Given the description of an element on the screen output the (x, y) to click on. 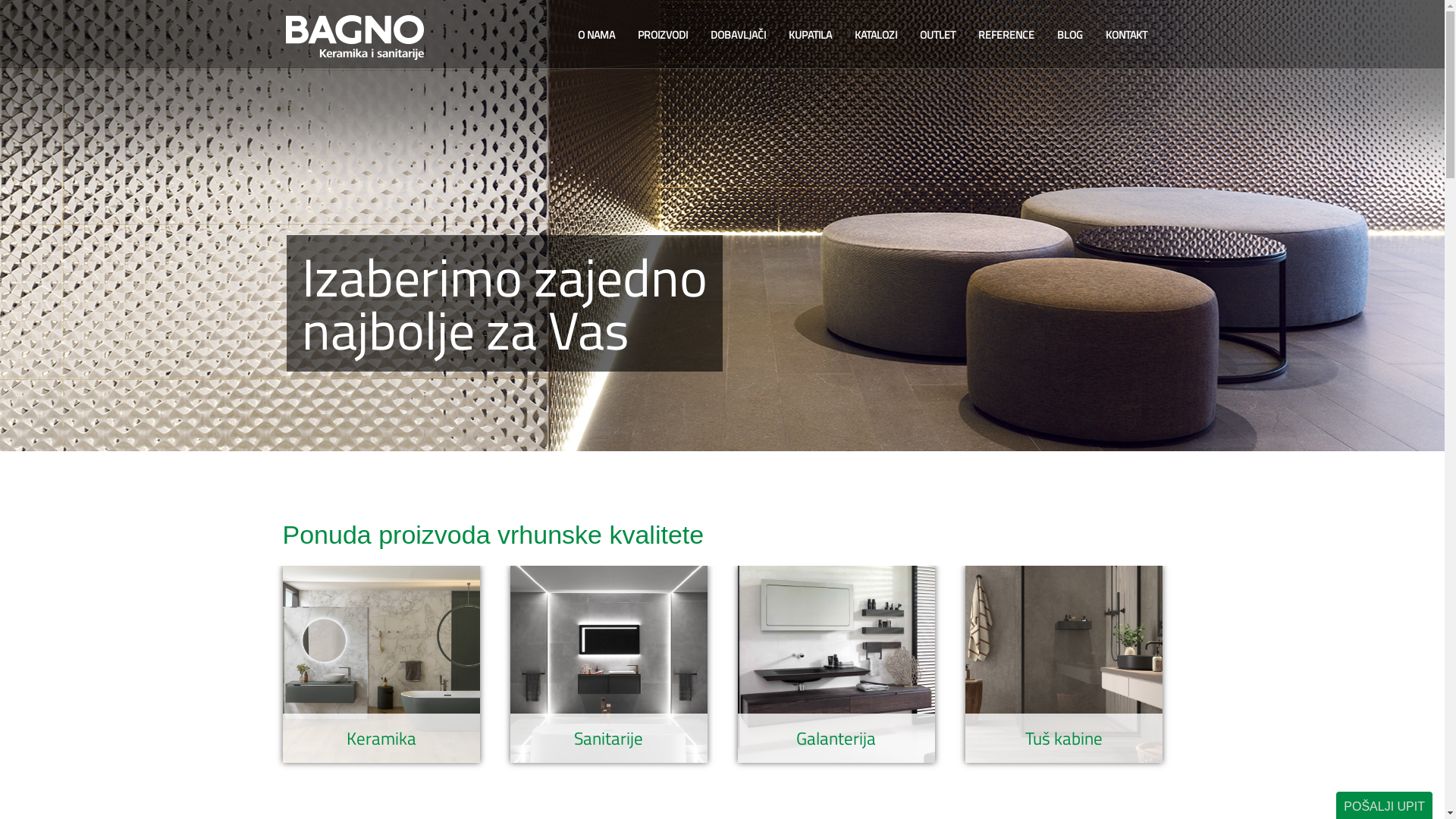
OUTLET Element type: text (937, 34)
Keramika Element type: text (380, 737)
KONTAKT Element type: text (1125, 34)
BLOG Element type: text (1068, 34)
REFERENCE Element type: text (1005, 34)
PROIZVODI Element type: text (662, 34)
O NAMA Element type: text (595, 34)
KATALOZI Element type: text (875, 34)
KUPATILA Element type: text (809, 34)
